Given the description of an element on the screen output the (x, y) to click on. 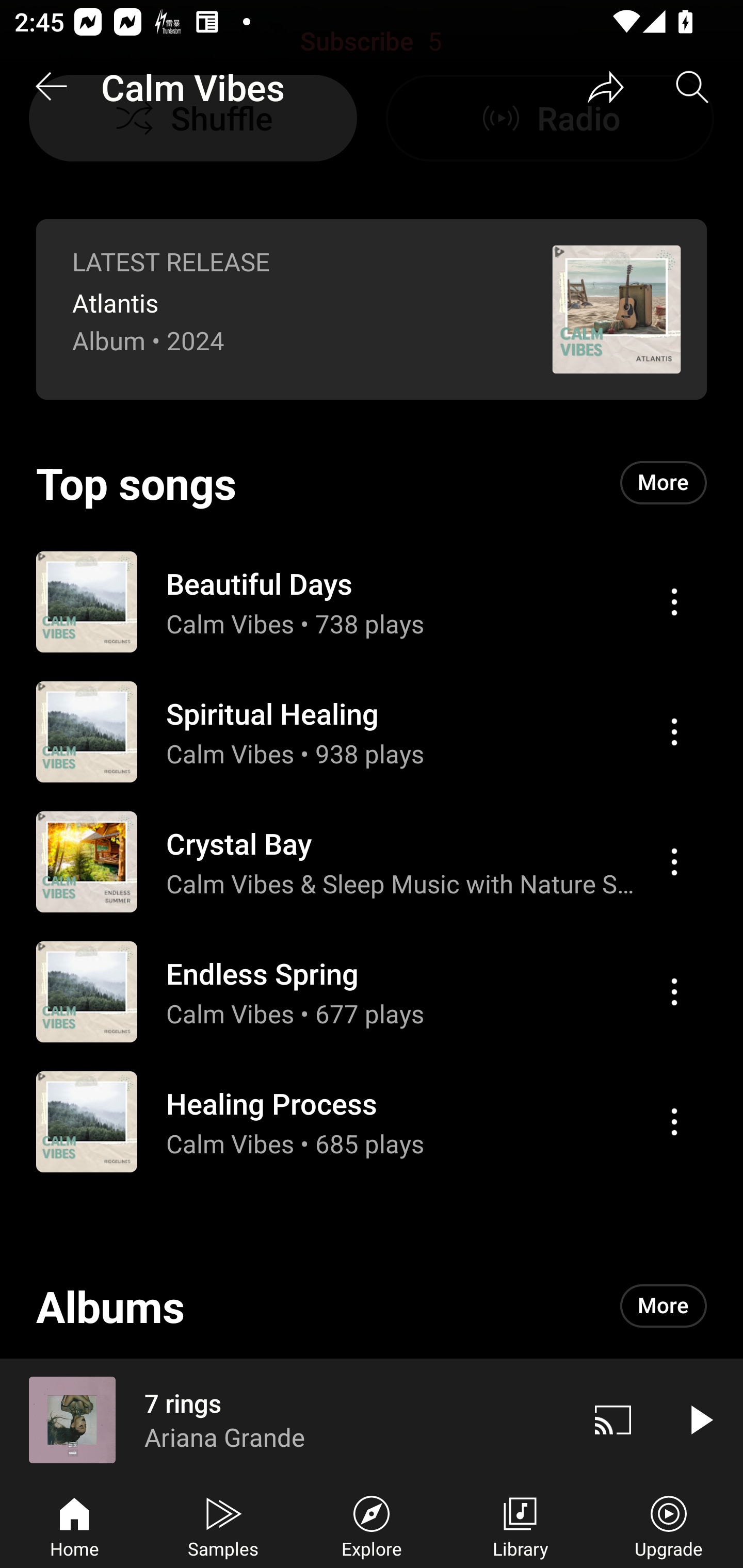
Back (50, 86)
Share (605, 86)
Search (692, 86)
Action menu (371, 601)
Action menu (673, 601)
Action menu (371, 731)
Action menu (673, 732)
Action menu (371, 861)
Action menu (673, 861)
Action menu (371, 991)
Action menu (673, 991)
Action menu (371, 1121)
Action menu (673, 1121)
7 rings Ariana Grande (284, 1419)
Cast. Disconnected (612, 1419)
Play video (699, 1419)
Home (74, 1524)
Samples (222, 1524)
Explore (371, 1524)
Library (519, 1524)
Upgrade (668, 1524)
